Given the description of an element on the screen output the (x, y) to click on. 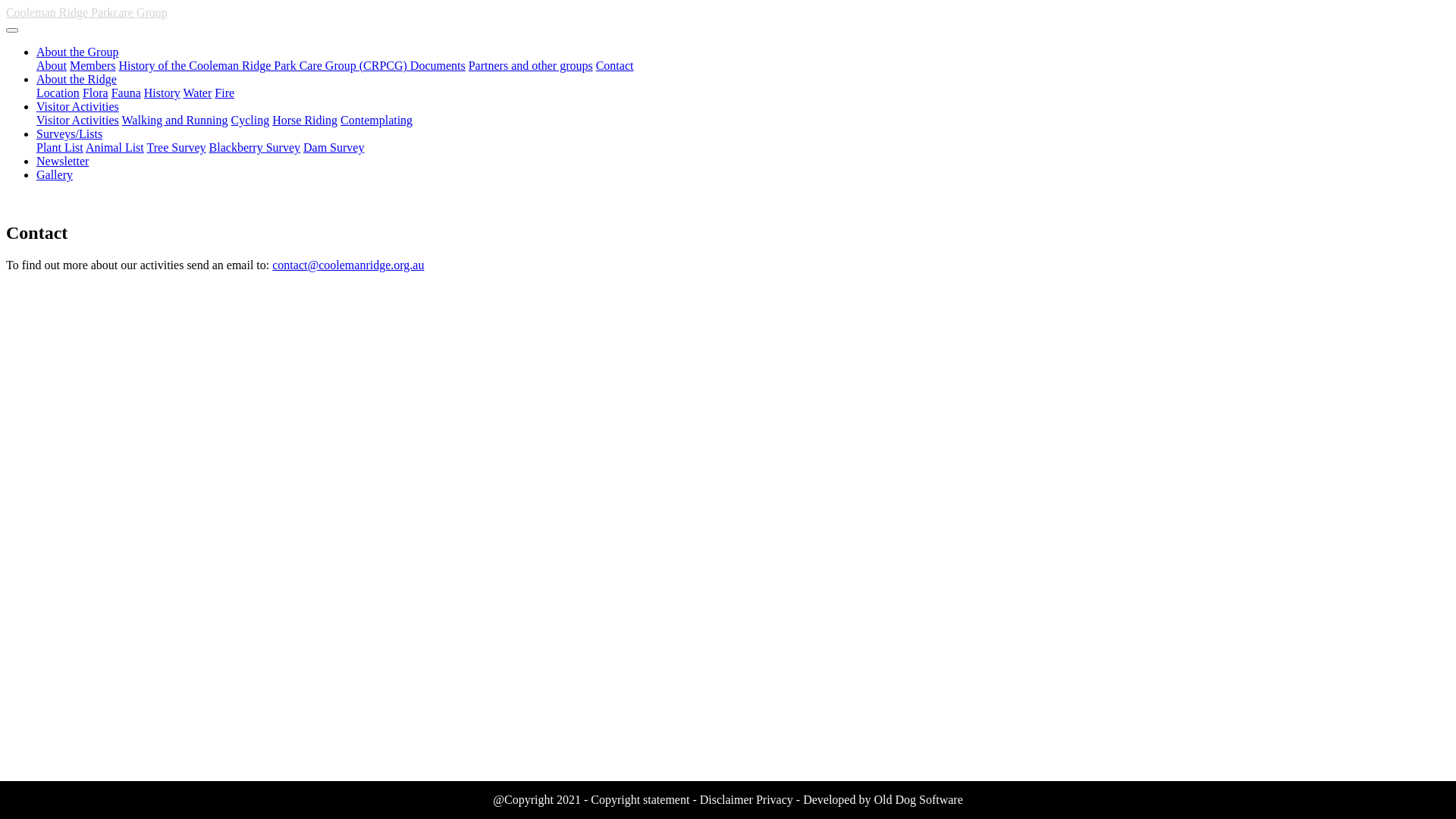
Horse Riding Element type: text (304, 119)
Documents Element type: text (437, 65)
Walking and Running Element type: text (175, 119)
Plant List Element type: text (59, 147)
Water Element type: text (196, 92)
About the Group Element type: text (77, 51)
Members Element type: text (92, 65)
Dam Survey Element type: text (333, 147)
Gallery Element type: text (54, 174)
Cooleman Ridge Parkcare Group Element type: text (86, 12)
Newsletter Element type: text (62, 160)
About Element type: text (51, 65)
History of the Cooleman Ridge Park Care Group (CRPCG) Element type: text (263, 65)
Animal List Element type: text (114, 147)
Flora Element type: text (95, 92)
Fire Element type: text (224, 92)
Tree Survey Element type: text (176, 147)
Partners and other groups Element type: text (530, 65)
Blackberry Survey Element type: text (254, 147)
Visitor Activities Element type: text (77, 106)
Contact Element type: text (614, 65)
Fauna Element type: text (126, 92)
History Element type: text (162, 92)
Location Element type: text (57, 92)
contact@coolemanridge.org.au Element type: text (347, 264)
Cycling Element type: text (250, 119)
Contemplating Element type: text (376, 119)
Visitor Activities Element type: text (77, 119)
Surveys/Lists Element type: text (69, 133)
About the Ridge Element type: text (76, 78)
